Given the description of an element on the screen output the (x, y) to click on. 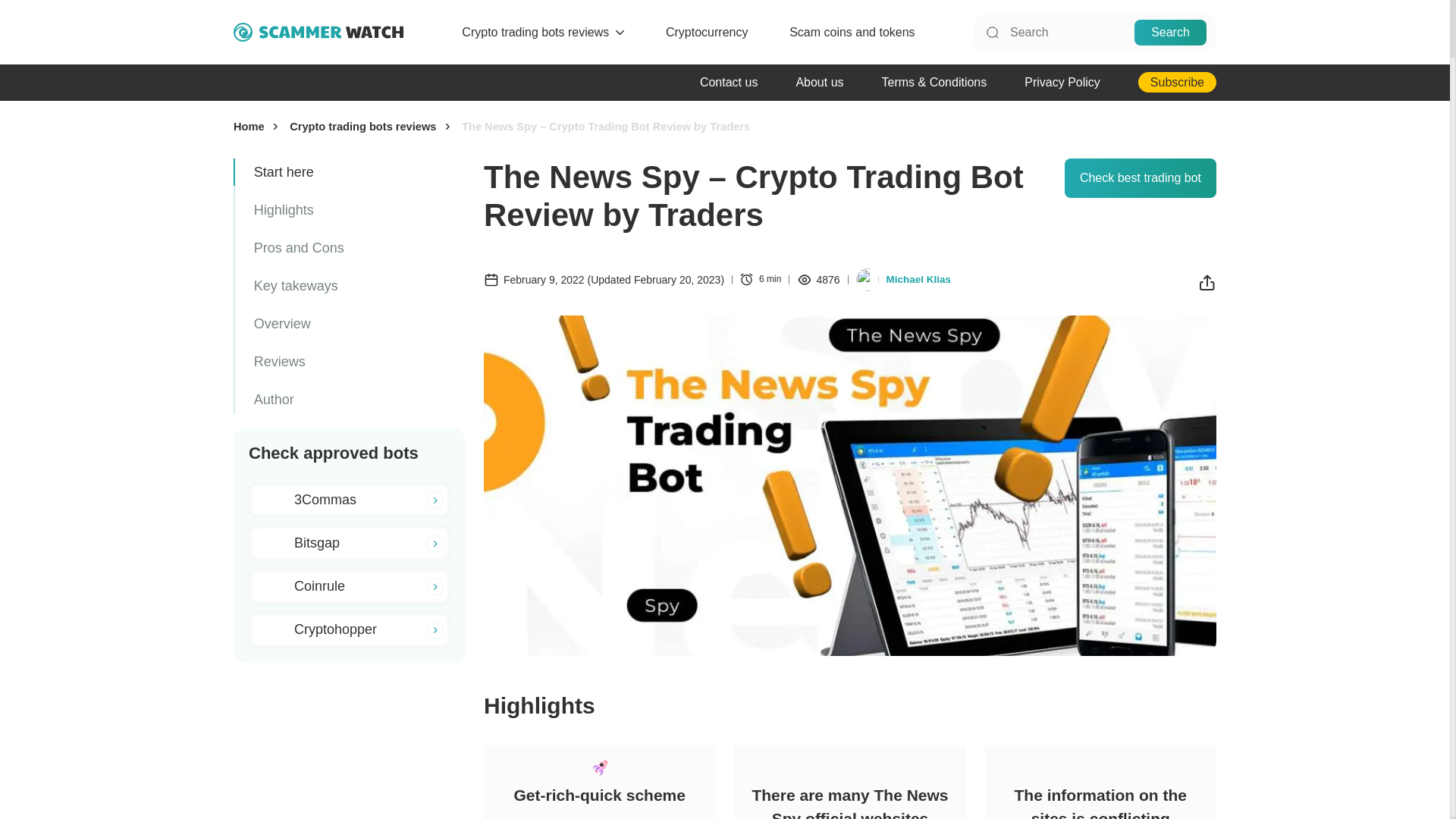
Crypto trading bots reviews (367, 126)
Search (1170, 32)
Pros and Cons (349, 247)
Privacy Policy (1062, 82)
Contact us (728, 82)
Home (254, 126)
Start here (349, 171)
Highlights (349, 209)
Crypto trading bots reviews (534, 31)
About us (818, 82)
